Given the description of an element on the screen output the (x, y) to click on. 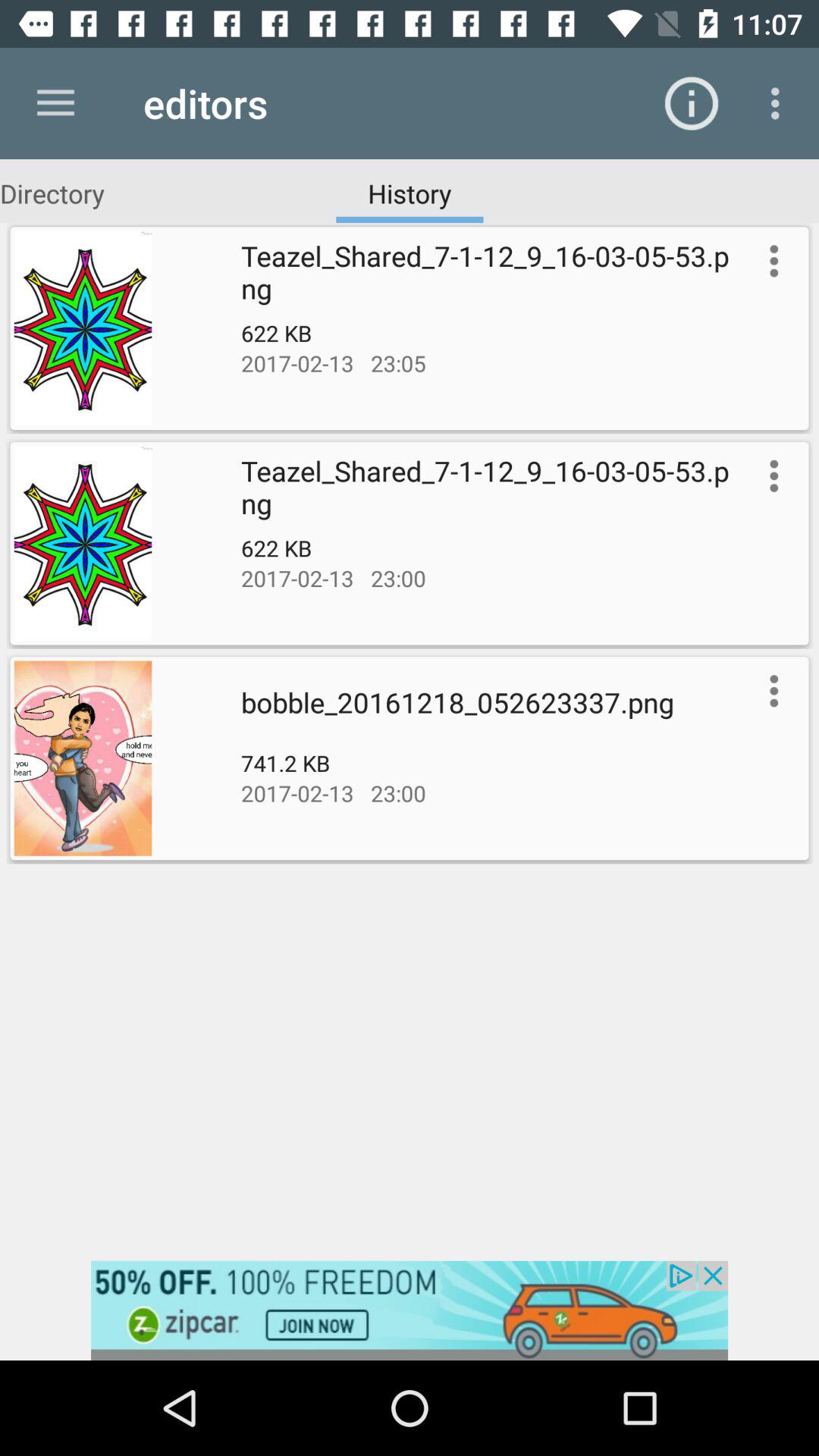
ellipse (770, 690)
